Given the description of an element on the screen output the (x, y) to click on. 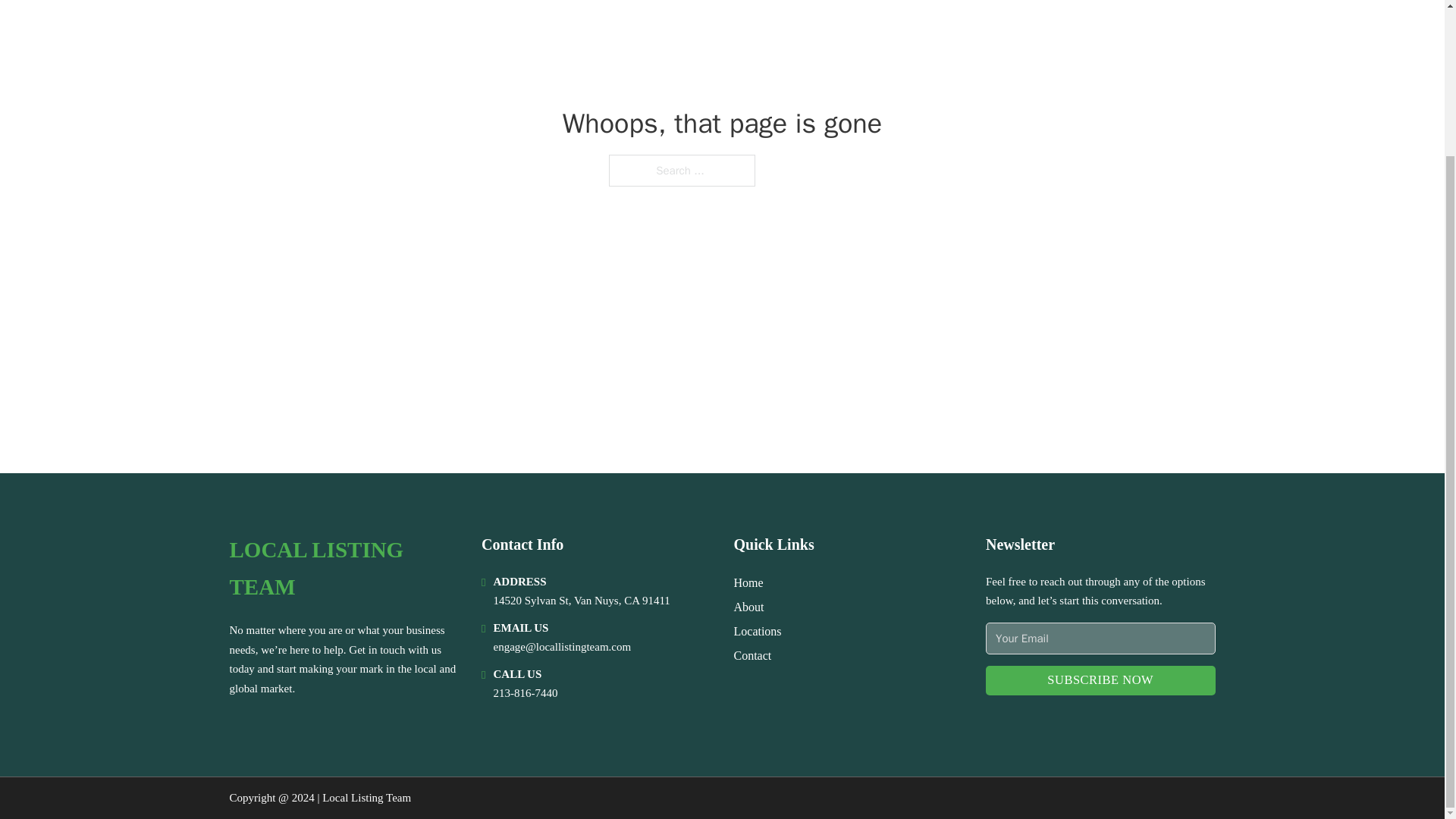
Contact (752, 655)
LOCAL LISTING TEAM (343, 568)
Locations (757, 630)
Home (747, 582)
SUBSCRIBE NOW (1100, 680)
213-816-7440 (525, 693)
About (748, 607)
